Given the description of an element on the screen output the (x, y) to click on. 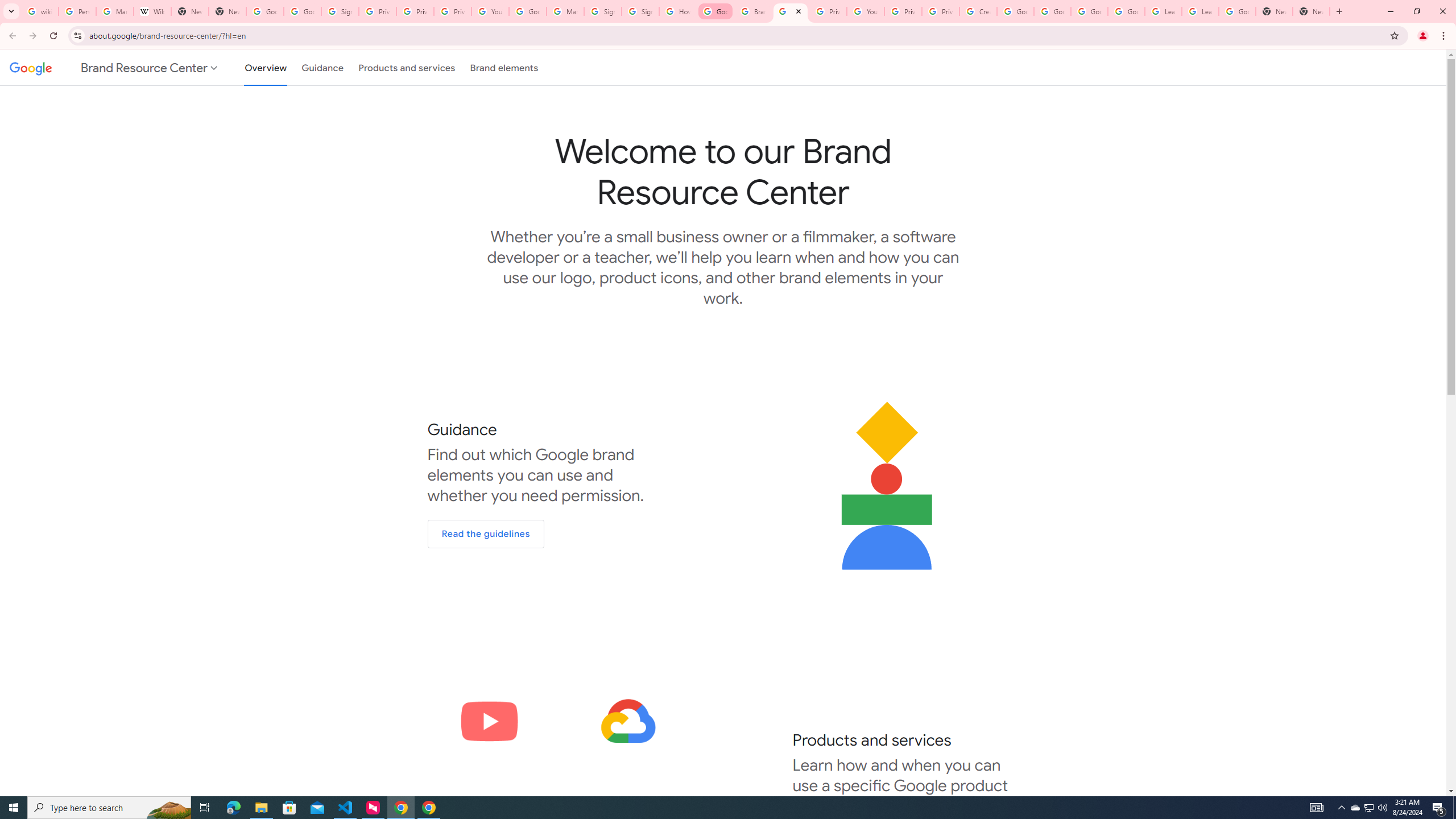
Brand Resource Center (753, 11)
Google Account Help (1126, 11)
YouTube (865, 11)
Create your Google Account (977, 11)
Products and services (406, 67)
Guidance (322, 67)
YouTube (489, 11)
Manage your Location History - Google Search Help (114, 11)
